Given the description of an element on the screen output the (x, y) to click on. 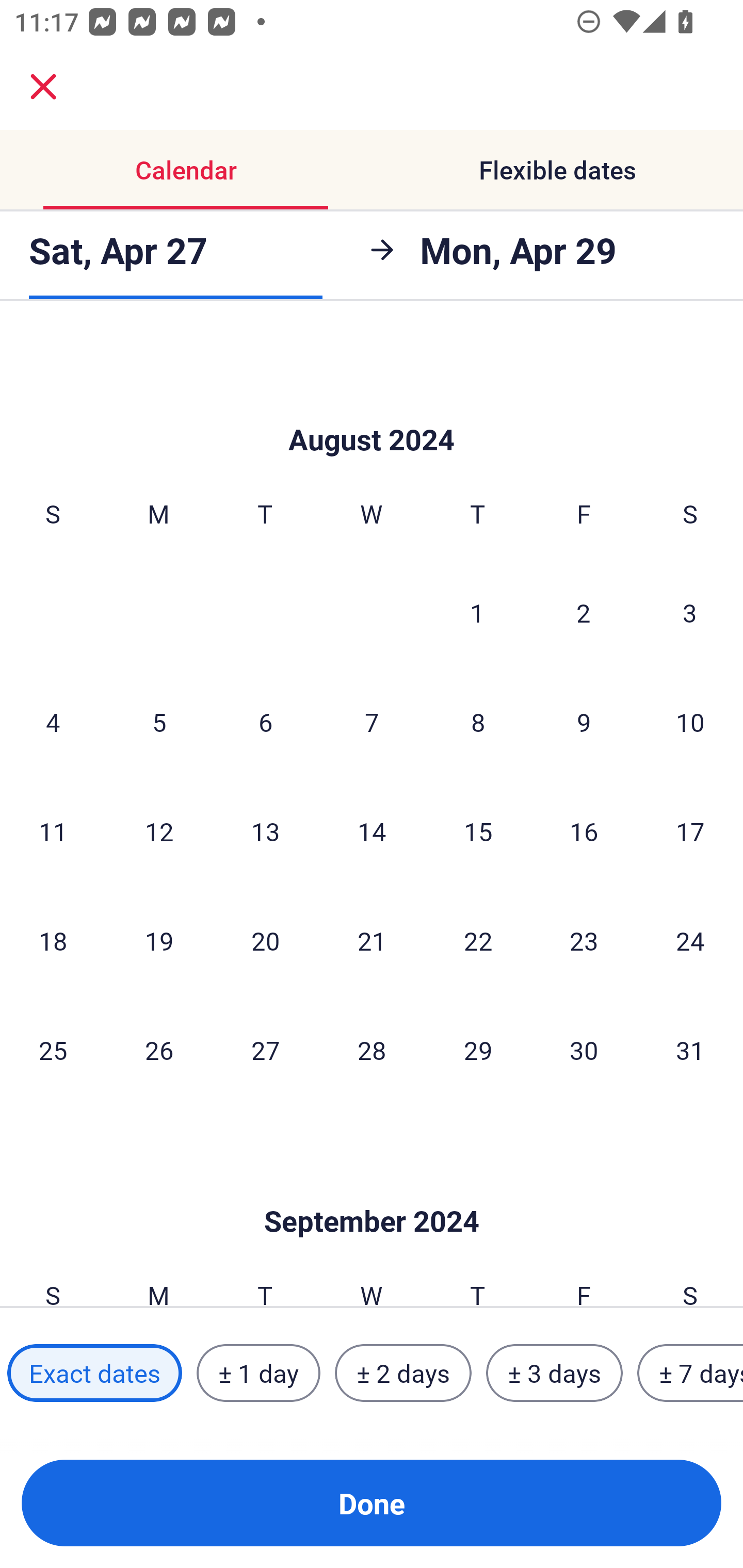
close. (43, 86)
Flexible dates (557, 170)
Skip to Done (371, 408)
1 Thursday, August 1, 2024 (477, 611)
2 Friday, August 2, 2024 (583, 611)
3 Saturday, August 3, 2024 (689, 611)
4 Sunday, August 4, 2024 (53, 721)
5 Monday, August 5, 2024 (159, 721)
6 Tuesday, August 6, 2024 (265, 721)
7 Wednesday, August 7, 2024 (371, 721)
8 Thursday, August 8, 2024 (477, 721)
9 Friday, August 9, 2024 (584, 721)
10 Saturday, August 10, 2024 (690, 721)
11 Sunday, August 11, 2024 (53, 830)
12 Monday, August 12, 2024 (159, 830)
13 Tuesday, August 13, 2024 (265, 830)
14 Wednesday, August 14, 2024 (371, 830)
15 Thursday, August 15, 2024 (477, 830)
16 Friday, August 16, 2024 (584, 830)
17 Saturday, August 17, 2024 (690, 830)
